Given the description of an element on the screen output the (x, y) to click on. 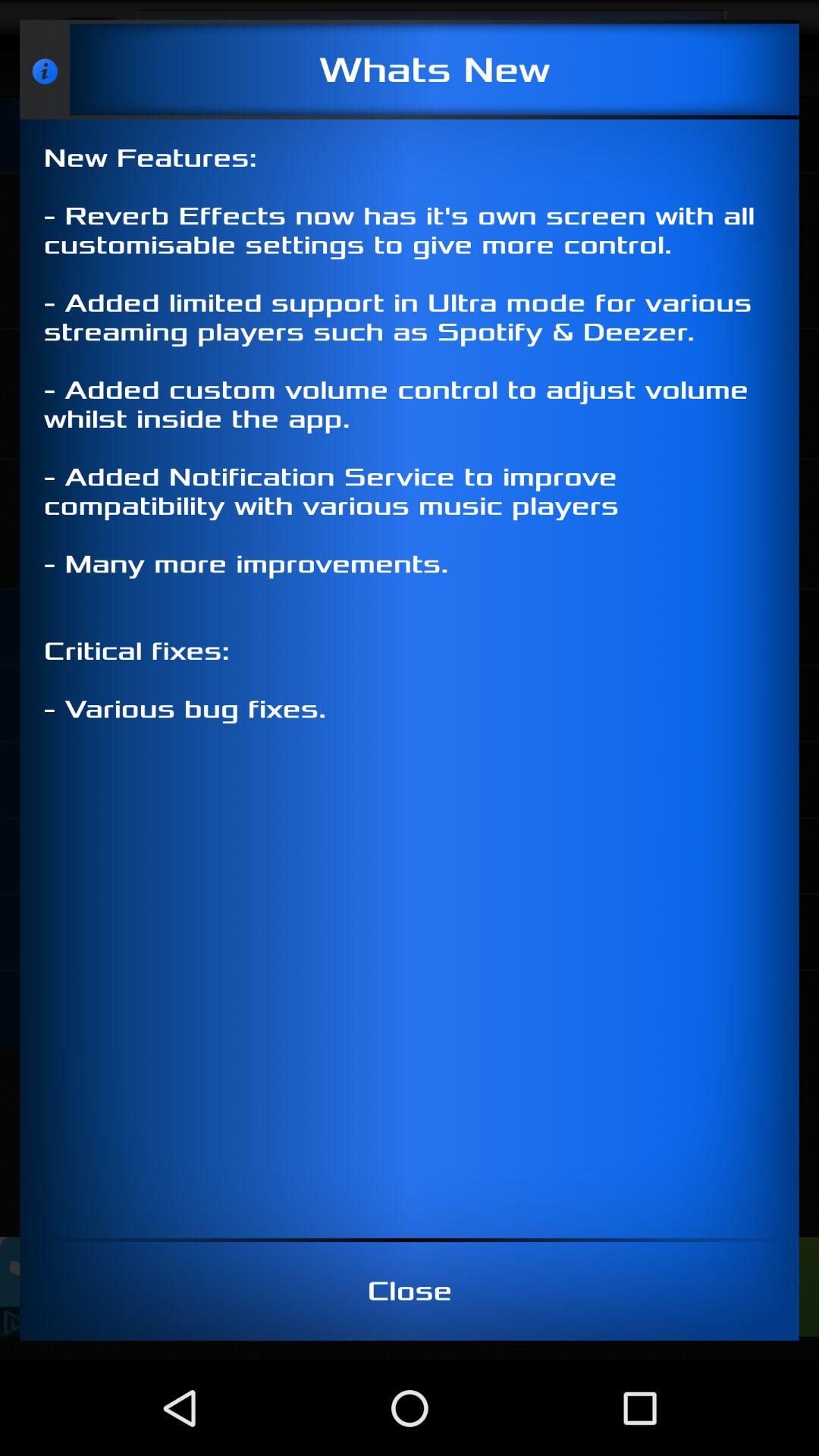
click icon below the whats new item (409, 678)
